Given the description of an element on the screen output the (x, y) to click on. 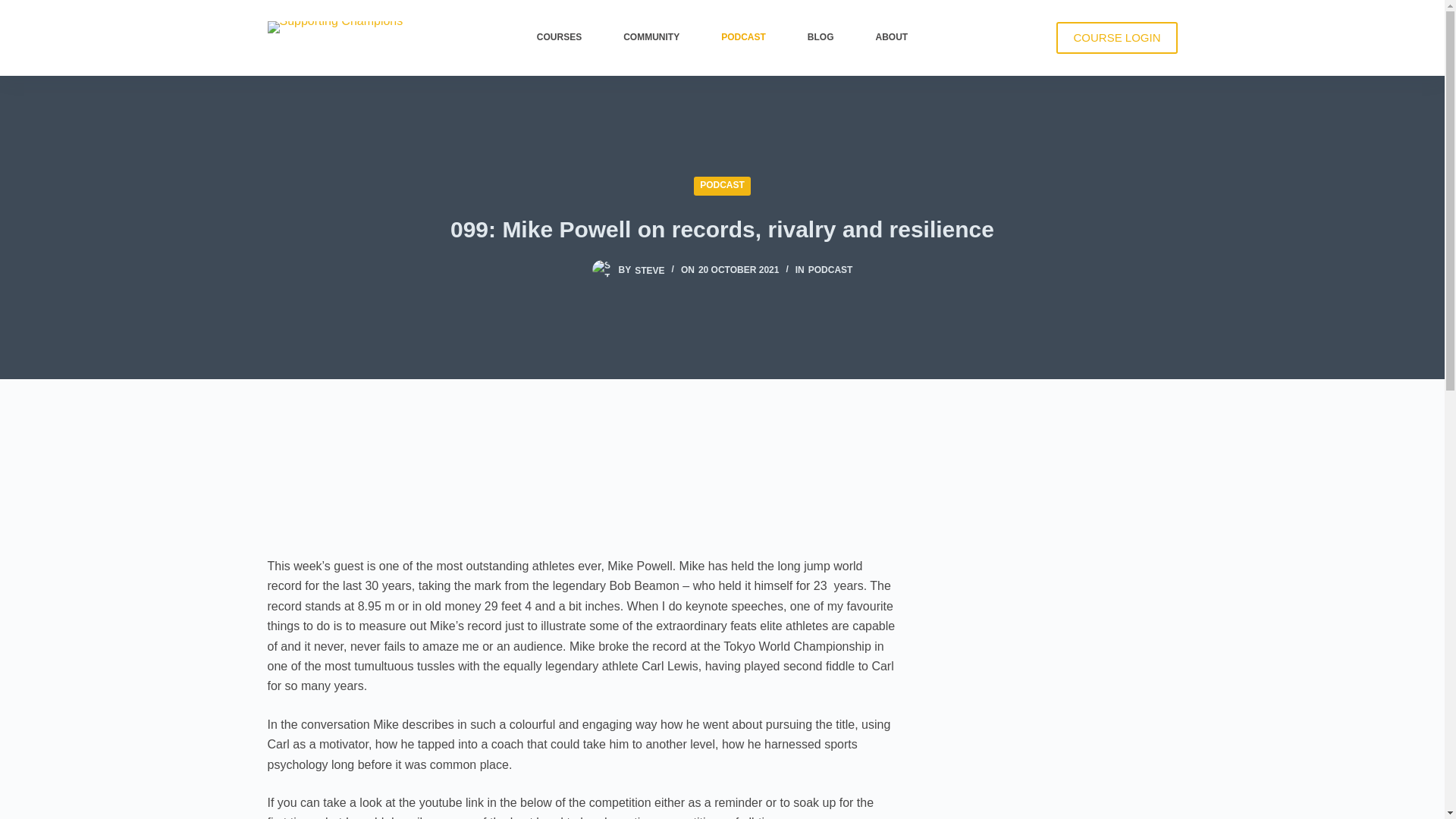
BLOG (820, 38)
PODCAST (743, 38)
PODCAST (722, 185)
COURSES (558, 38)
Posts by Steve (648, 269)
ABOUT (891, 38)
Skip to content (15, 7)
COURSE LOGIN (1116, 38)
STEVE (648, 269)
PODCAST (830, 269)
